Given the description of an element on the screen output the (x, y) to click on. 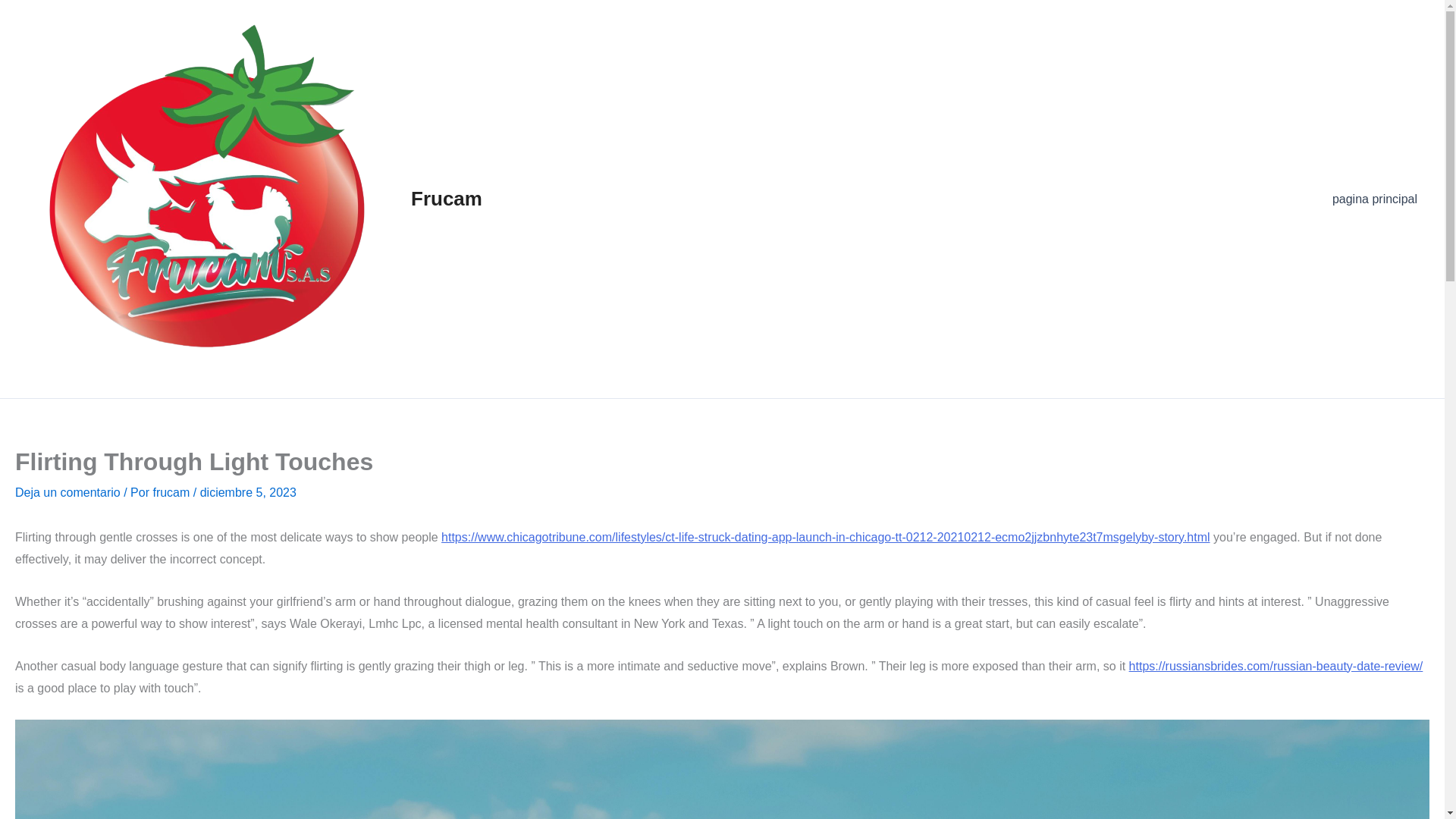
Ver todas las entradas de frucam (172, 492)
Deja un comentario (67, 492)
pagina principal (1374, 198)
frucam (172, 492)
Frucam (445, 198)
